Given the description of an element on the screen output the (x, y) to click on. 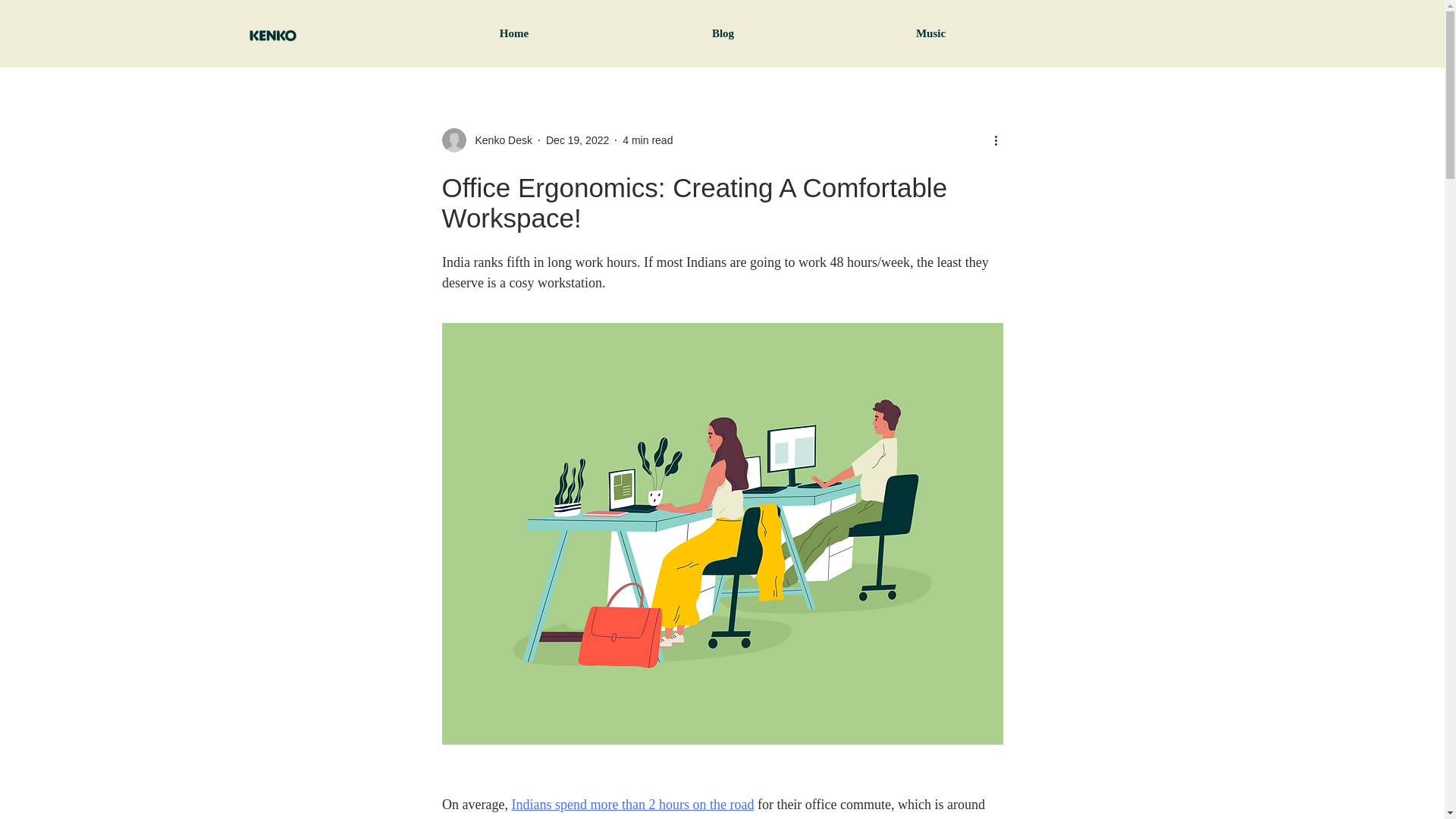
Dec 19, 2022 (577, 139)
4 min read (647, 139)
Indians spend more than 2 hours on the road (632, 804)
Kenko Desk (498, 139)
Home (514, 33)
Blog (722, 33)
Music (930, 33)
